Given the description of an element on the screen output the (x, y) to click on. 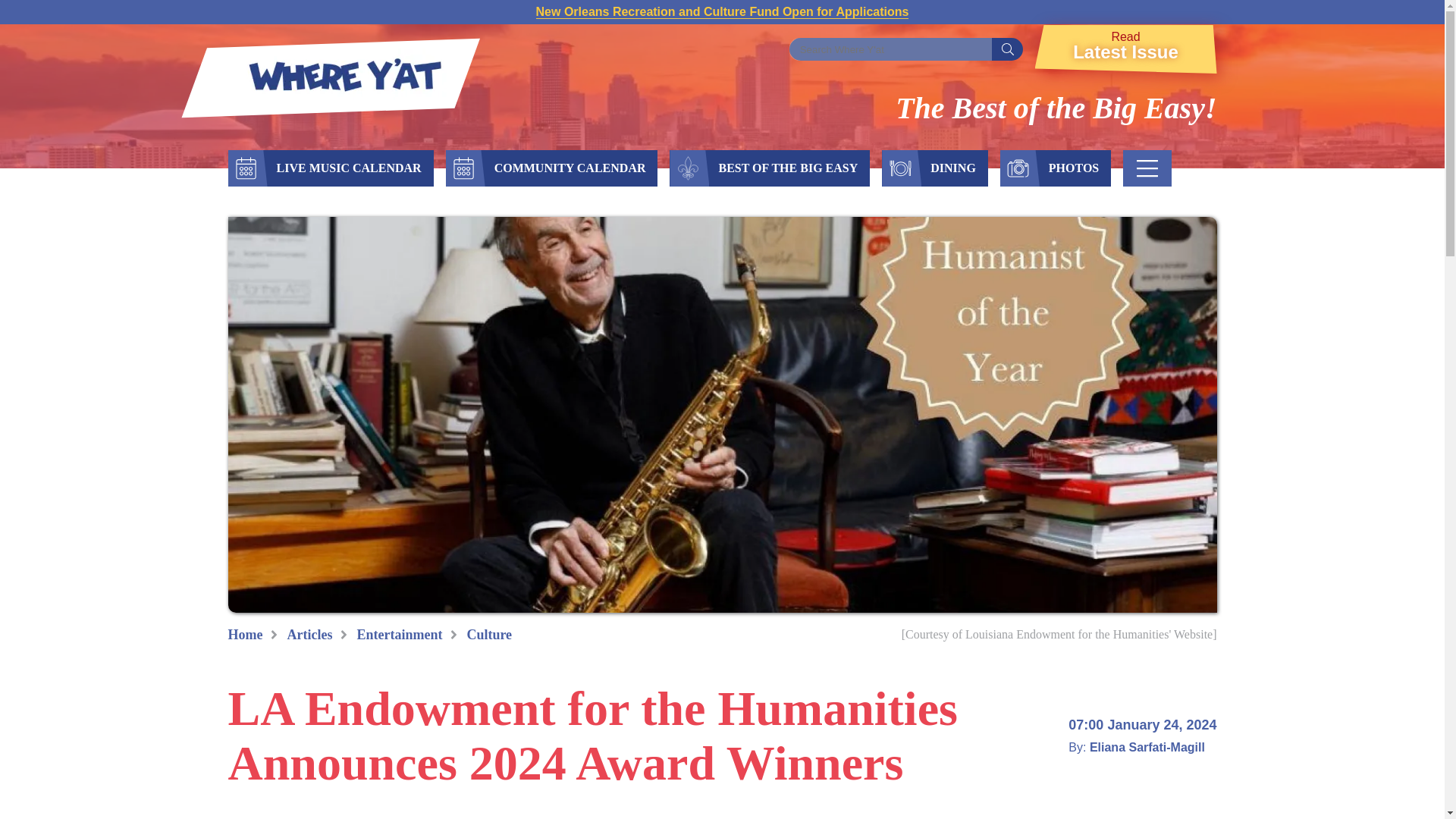
COMMUNITY CALENDAR (569, 167)
LIVE MUSIC CALENDAR (347, 167)
